Given the description of an element on the screen output the (x, y) to click on. 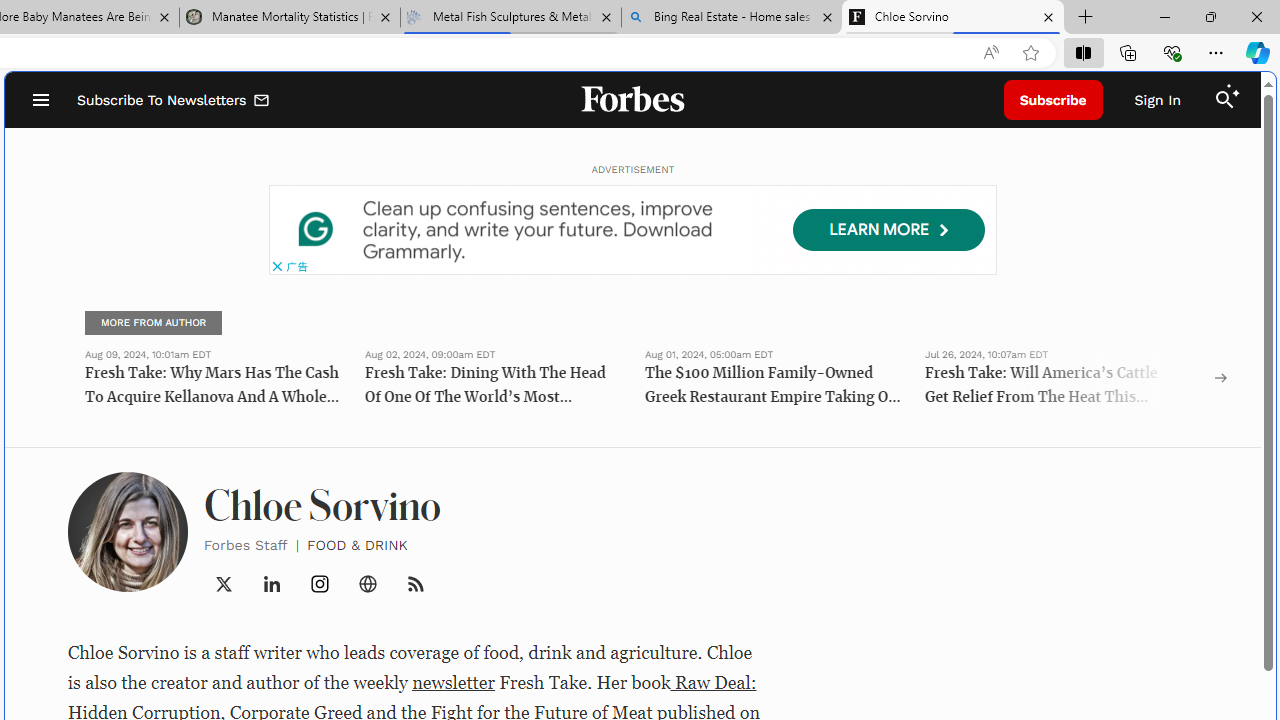
Forbes Logo (632, 99)
FOOD & DRINK (357, 543)
Subscribe (1053, 99)
Class: _4mQLn (367, 583)
